Given the description of an element on the screen output the (x, y) to click on. 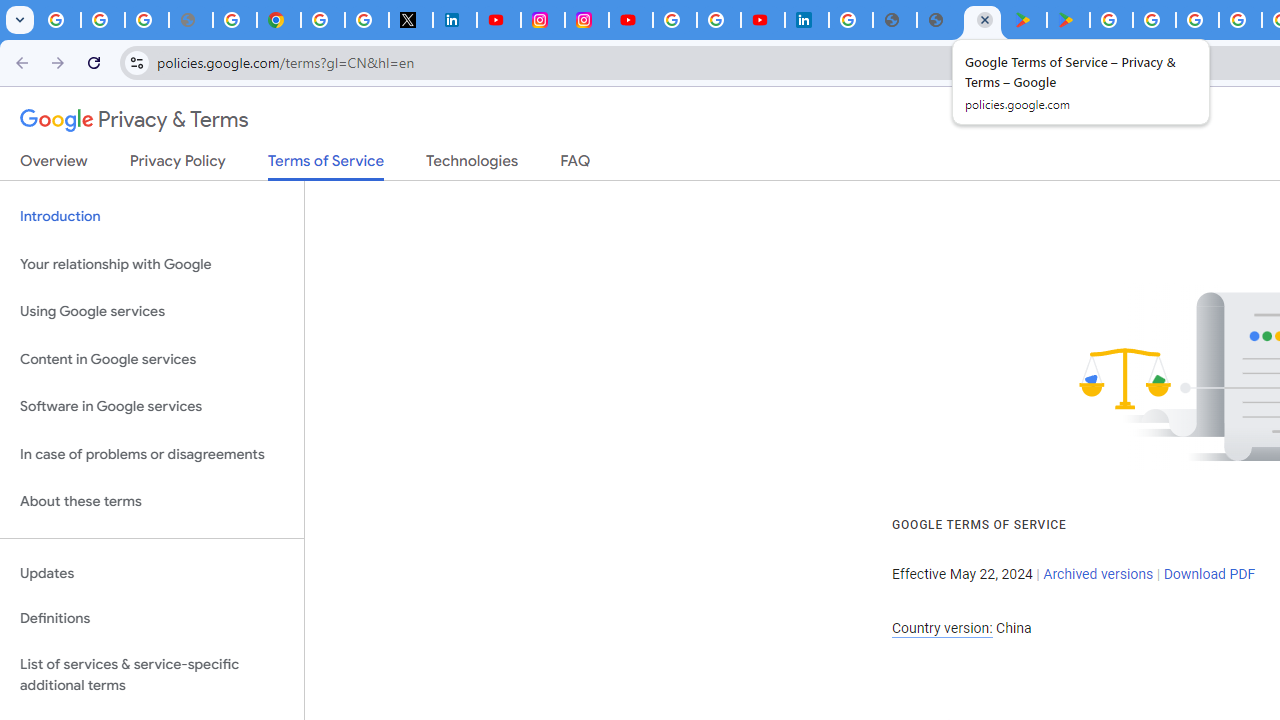
Introduction (152, 216)
Sign in - Google Accounts (850, 20)
Sign in - Google Accounts (322, 20)
Sign in - Google Accounts (674, 20)
Reload (93, 62)
